Given the description of an element on the screen output the (x, y) to click on. 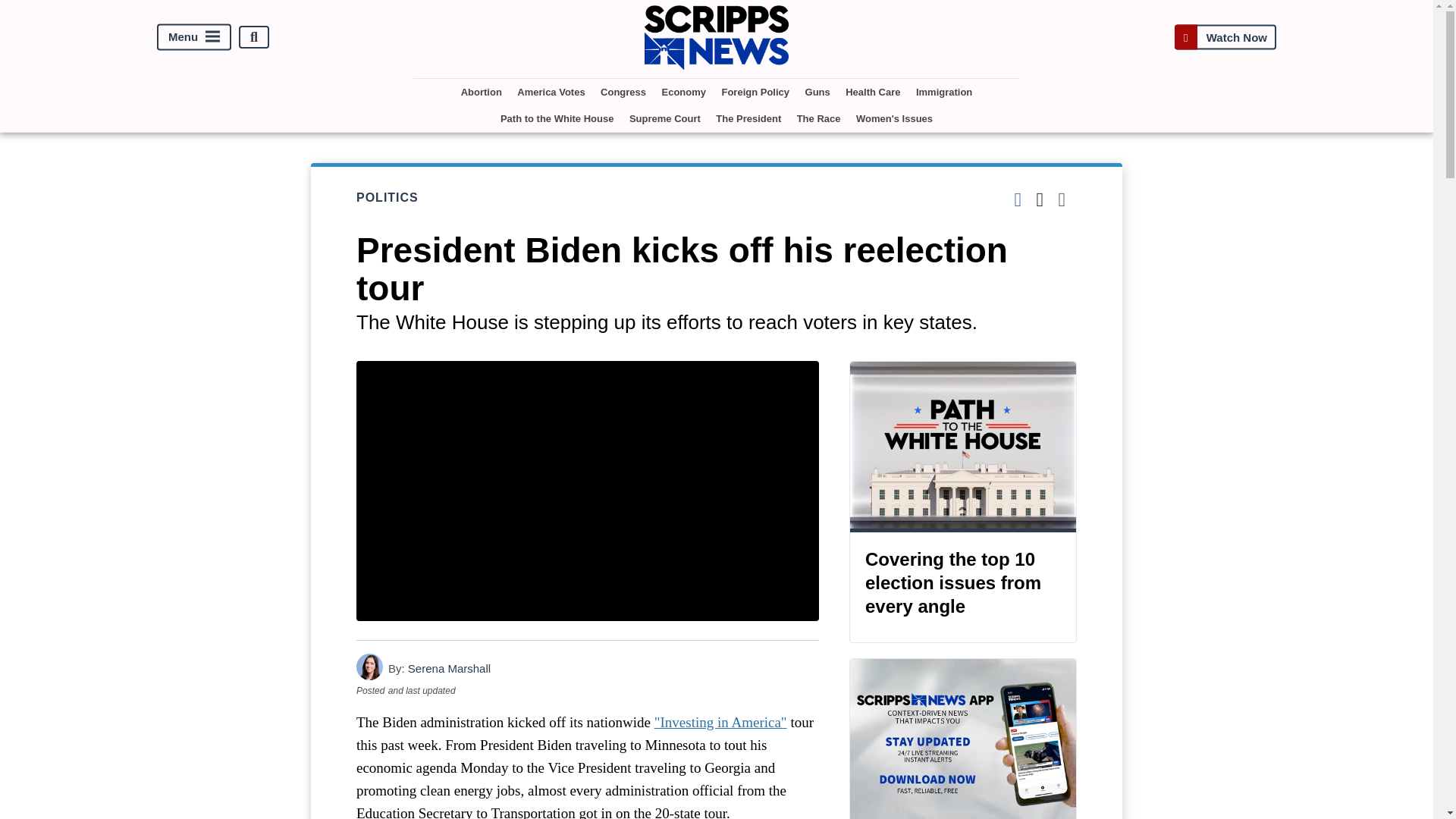
Menu (194, 37)
Watch Now (1224, 37)
